Given the description of an element on the screen output the (x, y) to click on. 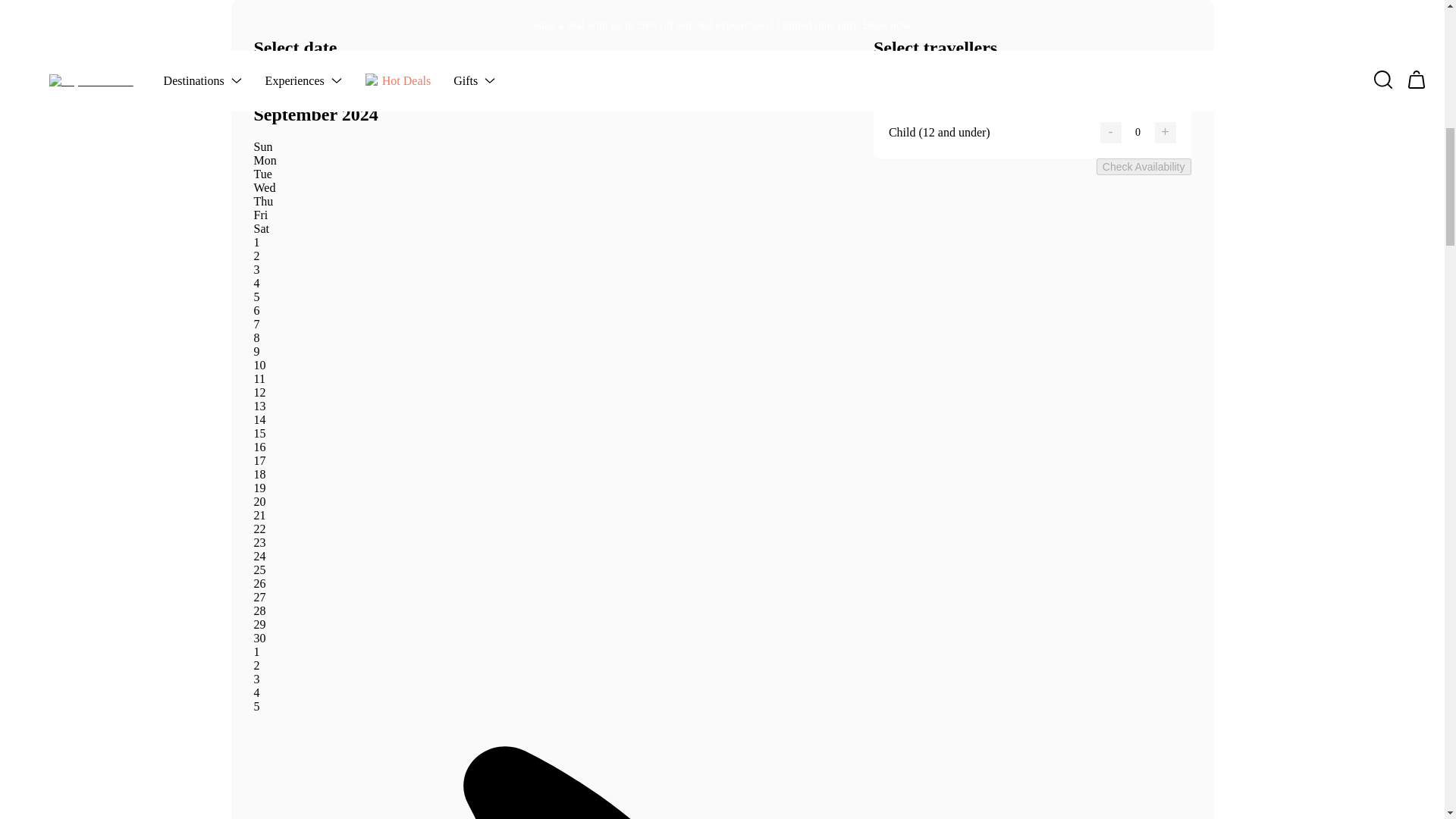
Check Availability (1143, 166)
- (1110, 132)
Next Month (285, 81)
- (1110, 98)
